Given the description of an element on the screen output the (x, y) to click on. 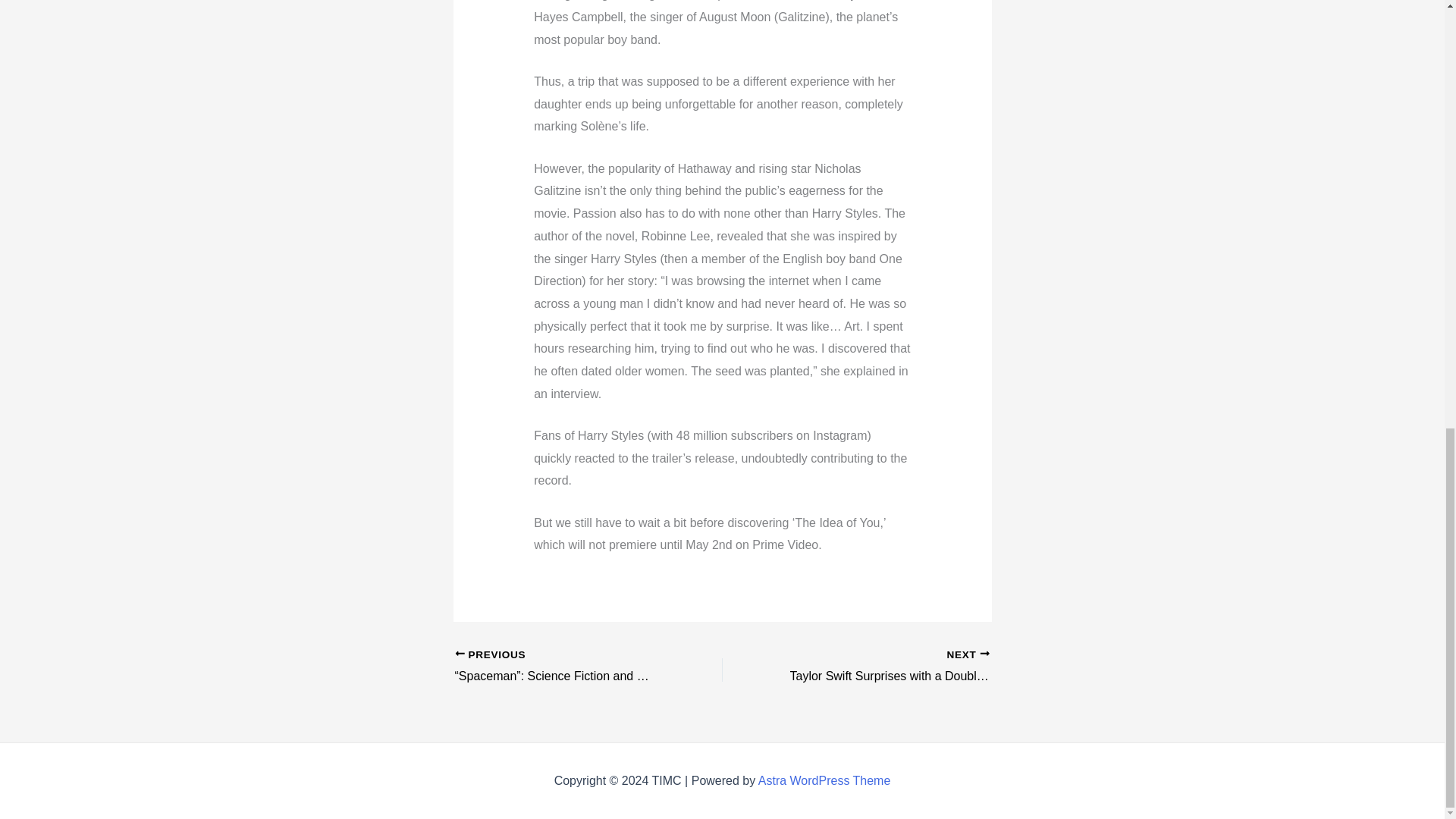
Astra WordPress Theme (824, 780)
